Given the description of an element on the screen output the (x, y) to click on. 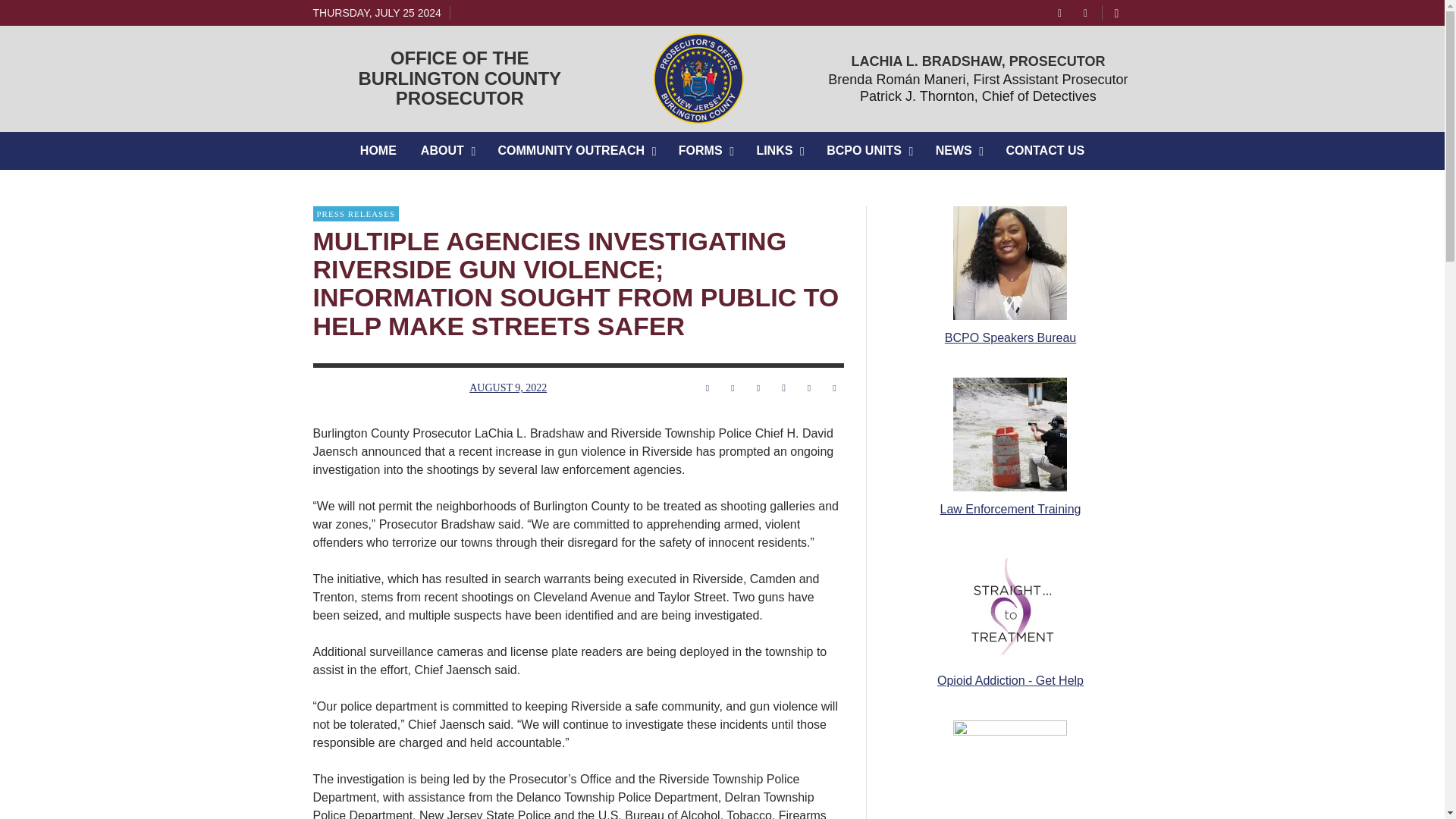
HOME (378, 150)
LACHIA L. BRADSHAW, PROSECUTOR (977, 61)
COMMUNITY OUTREACH (576, 150)
FORMS (705, 150)
BCPO UNITS (868, 150)
Patrick J. Thornton, Chief of Detectives (978, 96)
View all posts in Press Releases (355, 213)
Facebook (1059, 12)
ABOUT (447, 150)
LINKS (459, 77)
Twitter (778, 150)
